Given the description of an element on the screen output the (x, y) to click on. 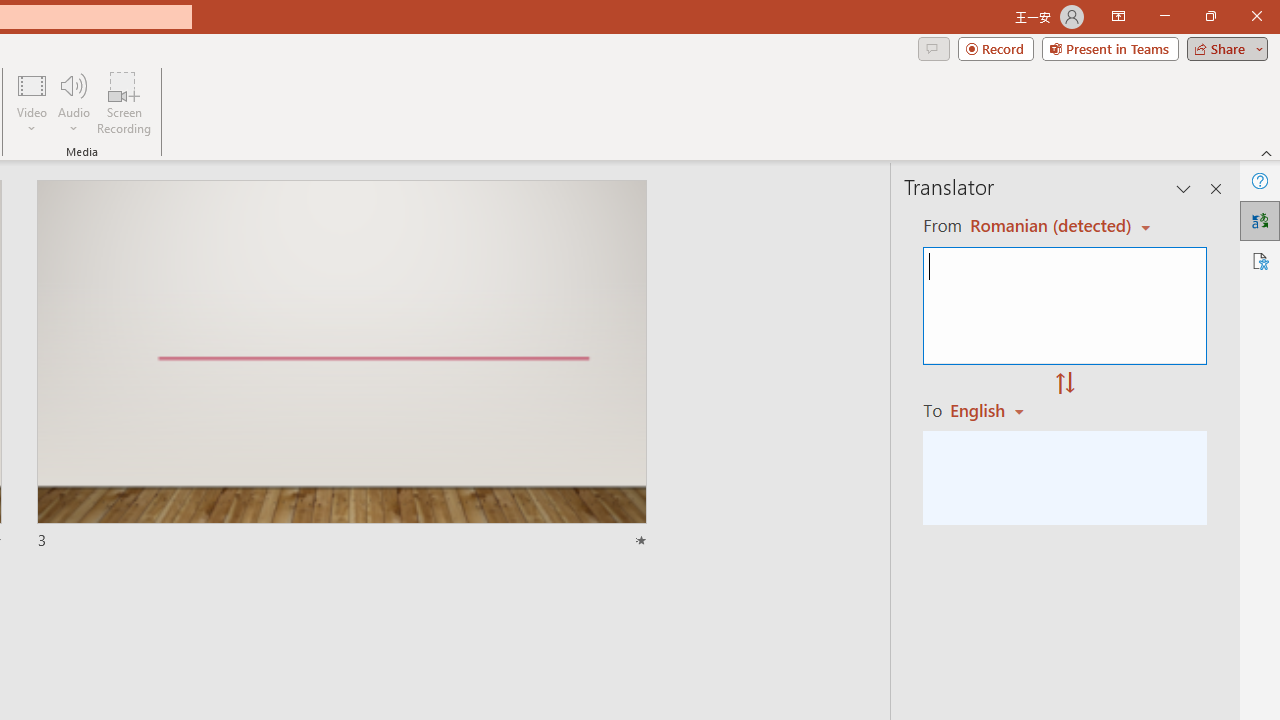
Swap "from" and "to" languages. (1065, 383)
Czech (detected) (1047, 225)
Video (31, 102)
